Given the description of an element on the screen output the (x, y) to click on. 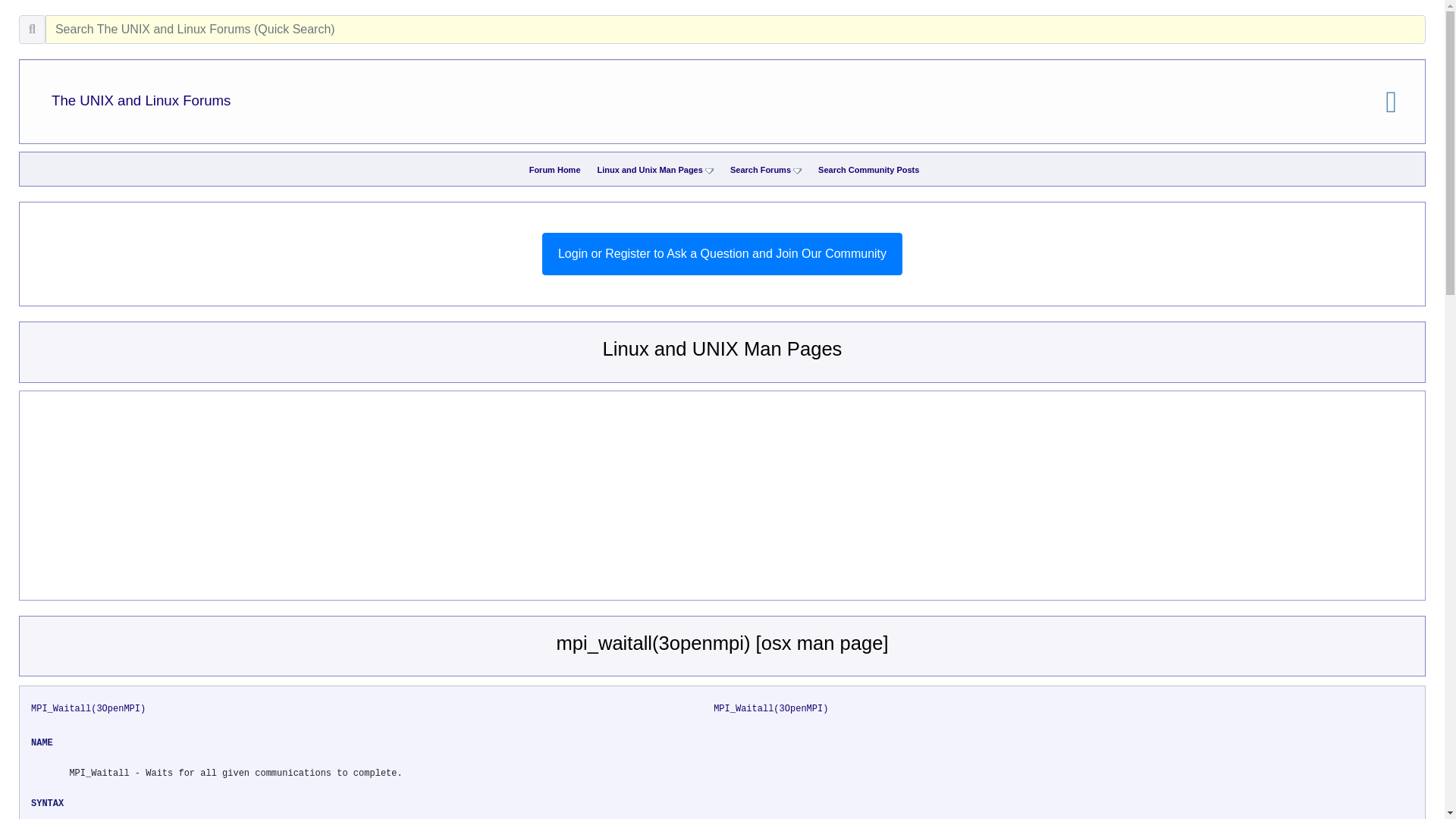
The UNIX and Linux Forums (140, 100)
Search Forums (760, 169)
3rd party ad content (427, 497)
Go to Forum Page (554, 169)
Search Community Posts (868, 169)
Linux and Unix Man Pages (649, 169)
Login or Register to Ask a Question and Join Our Community (721, 253)
Forum Home (554, 169)
